Given the description of an element on the screen output the (x, y) to click on. 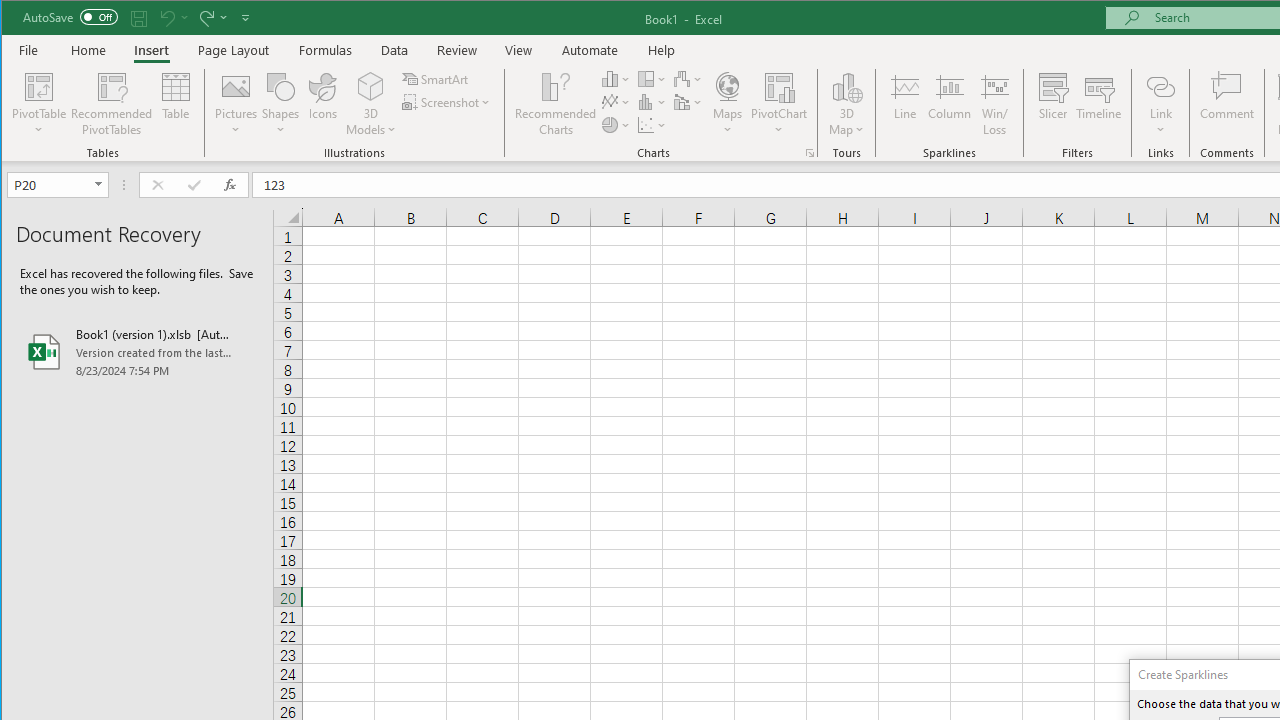
Line (904, 104)
Comment (1227, 104)
PivotTable (39, 86)
Timeline (1098, 104)
Recommended PivotTables (111, 104)
PivotTable (39, 104)
Column (949, 104)
